Given the description of an element on the screen output the (x, y) to click on. 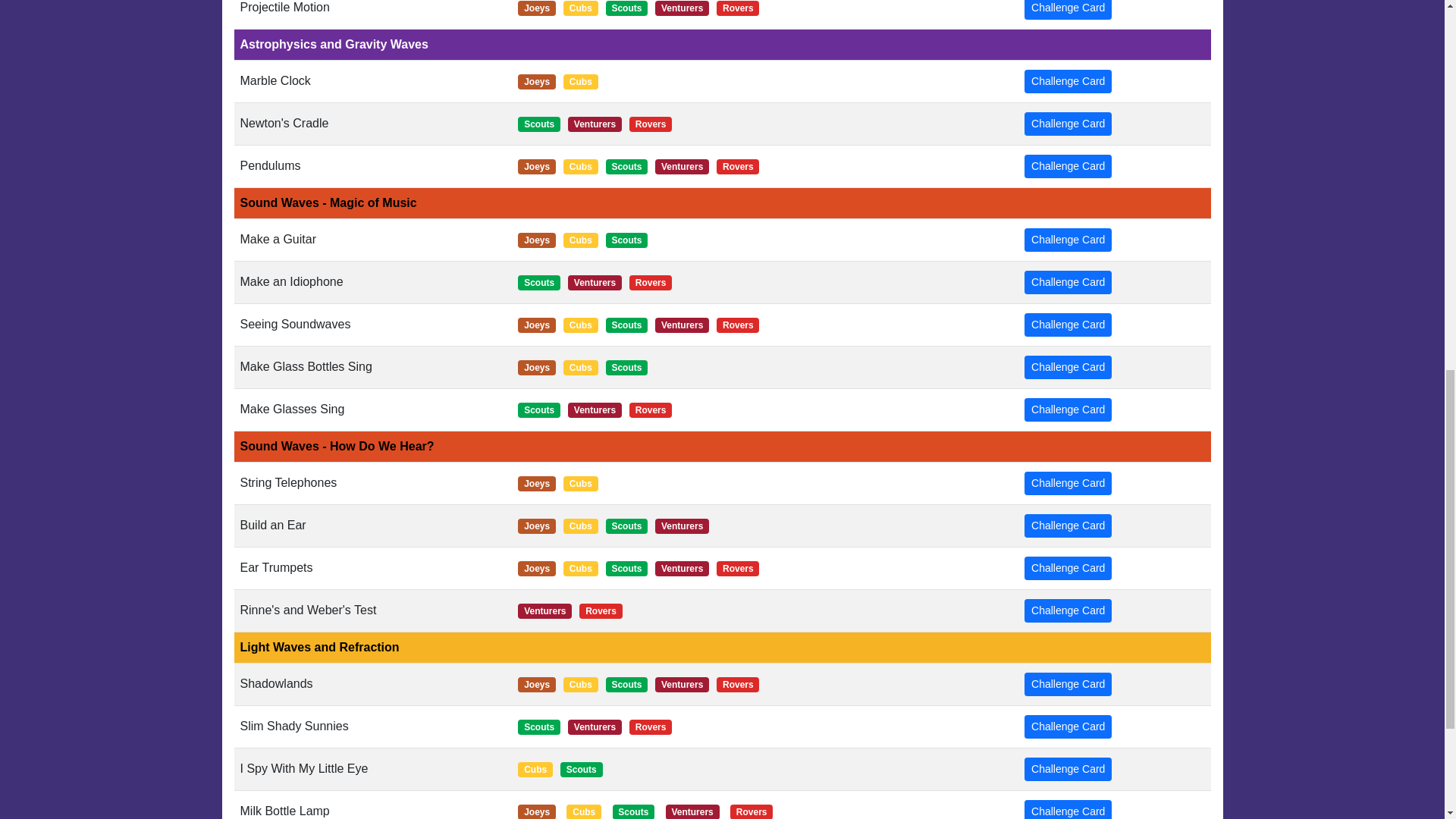
Challenge Card (1068, 9)
Challenge Card (1068, 166)
Challenge Card (1068, 684)
Challenge Card (1068, 525)
Challenge Card (1068, 726)
Challenge Card (1068, 809)
Challenge Card (1068, 123)
Challenge Card (1068, 483)
Challenge Card (1068, 282)
Challenge Card (1068, 367)
